Given the description of an element on the screen output the (x, y) to click on. 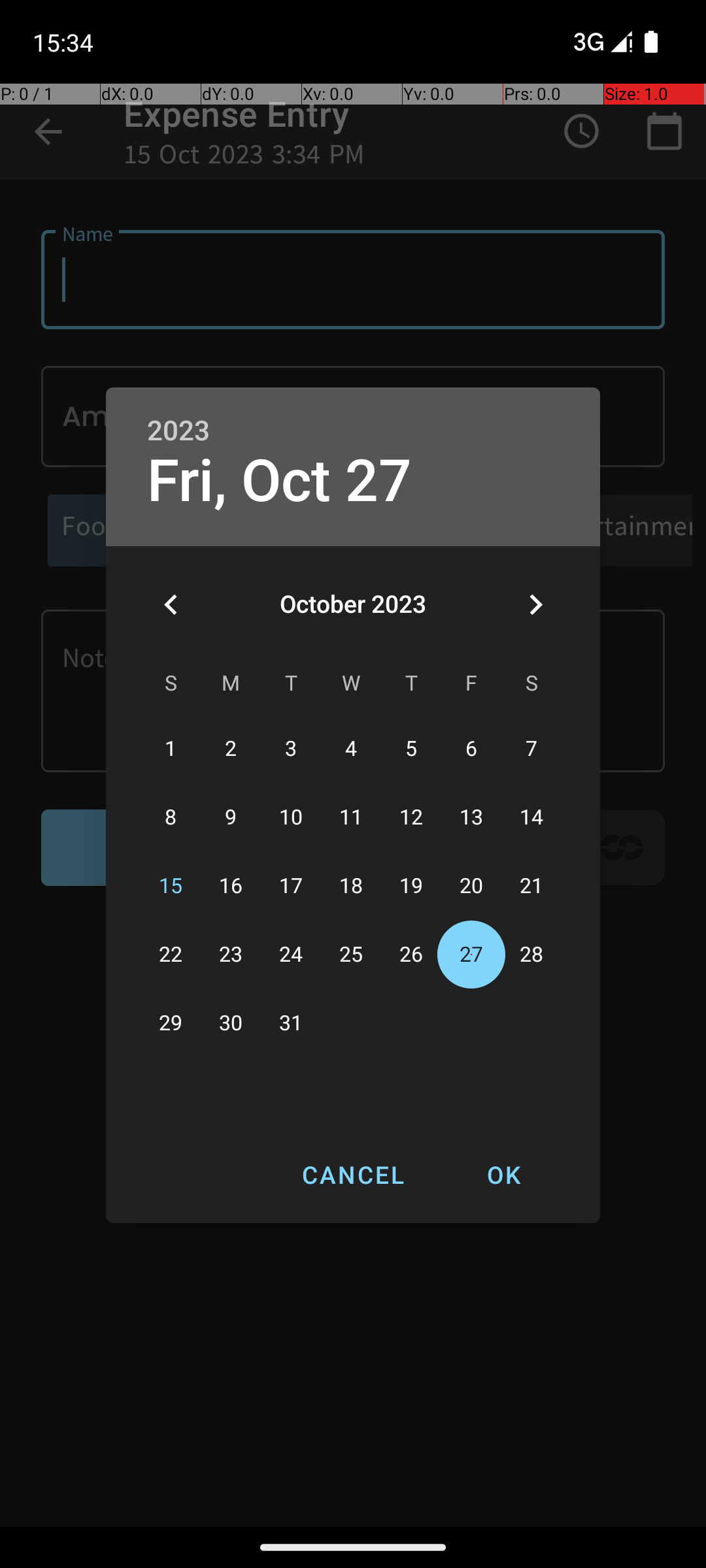
Fri, Oct 27 Element type: android.widget.TextView (279, 480)
